Given the description of an element on the screen output the (x, y) to click on. 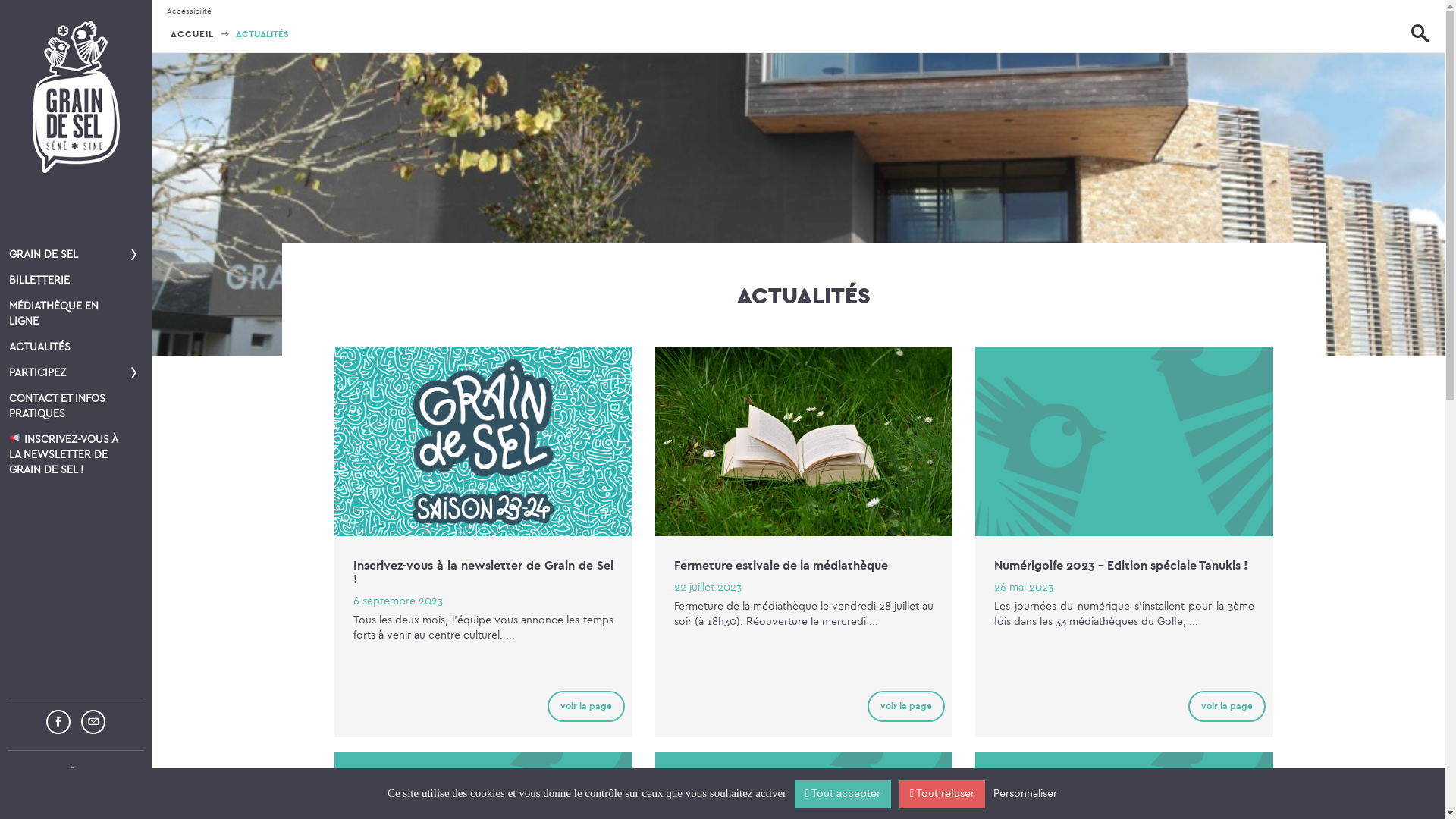
voir la page Element type: text (585, 705)
BILLETTERIE Element type: text (75, 280)
GRAIN DE SEL Element type: text (75, 254)
ACCUEIL Element type: text (199, 33)
PARTICIPEZ Element type: text (75, 372)
voir la page Element type: text (905, 705)
Personnaliser Element type: text (1025, 793)
CONTACT ET INFOS PRATIQUES Element type: text (75, 405)
voir la page Element type: text (1226, 705)
Tout refuser Element type: text (942, 794)
Tout accepter Element type: text (842, 794)
